Given the description of an element on the screen output the (x, y) to click on. 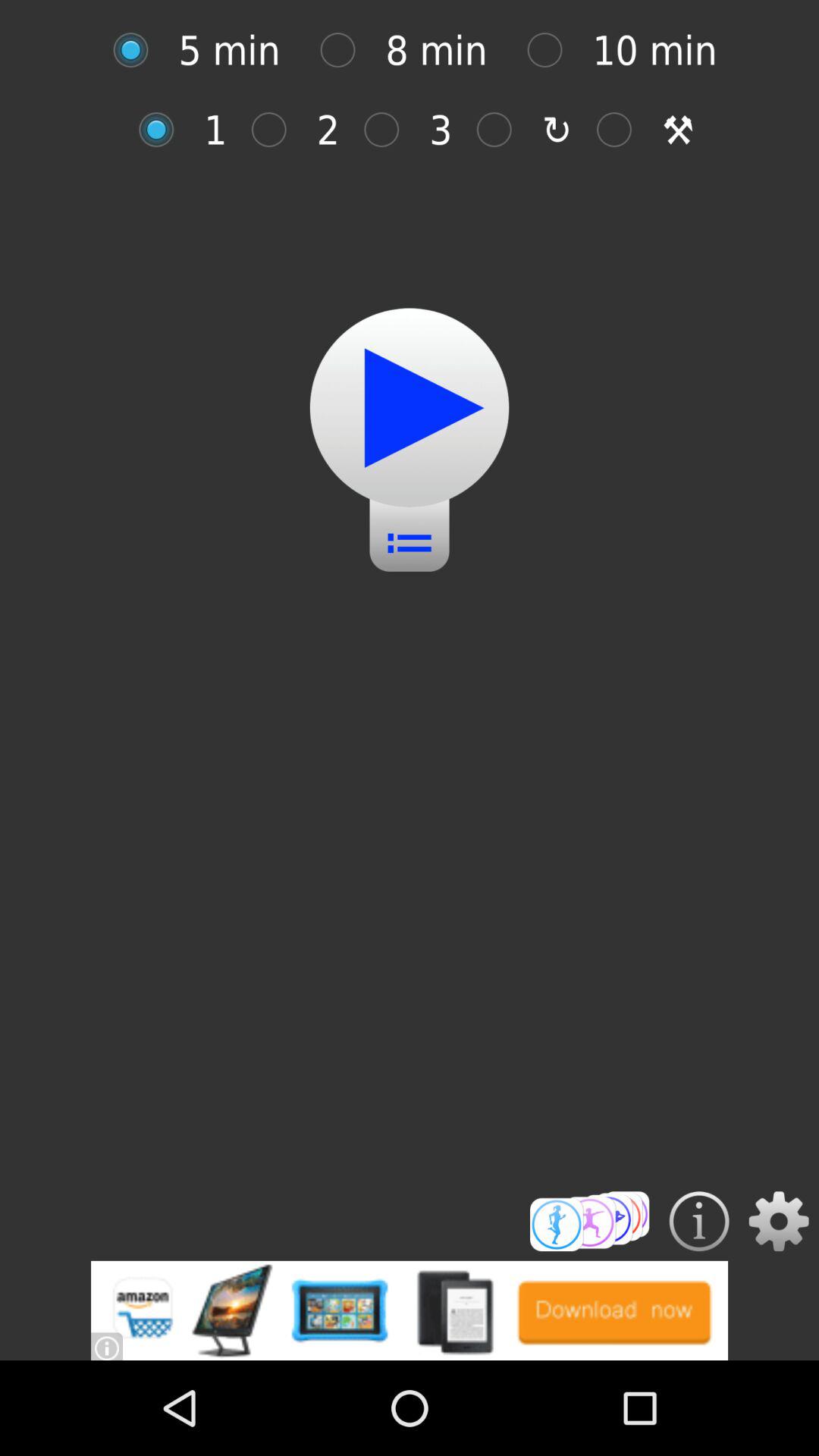
switch to 10 minutes routine (552, 49)
